Given the description of an element on the screen output the (x, y) to click on. 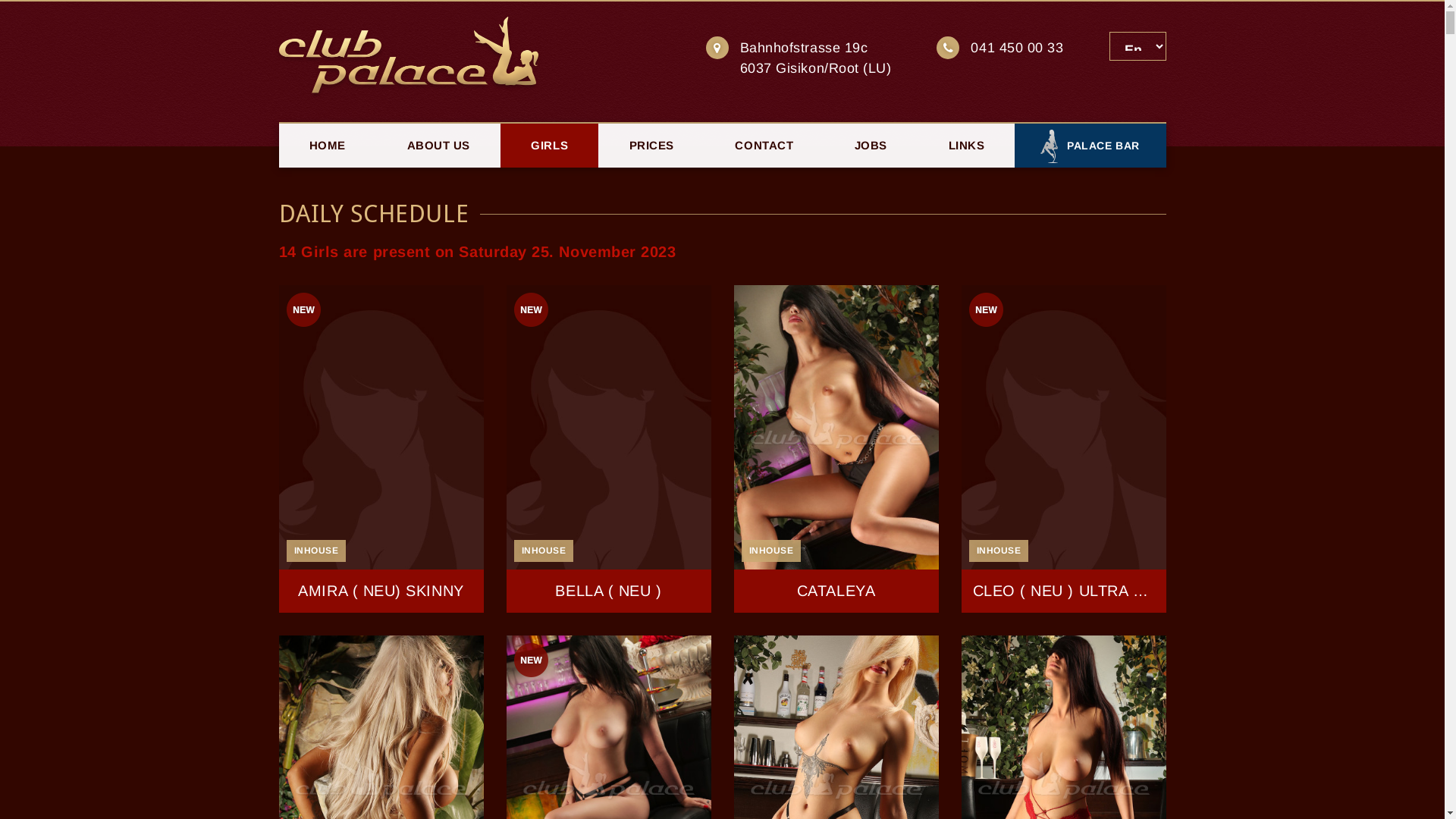
ABOUT US Element type: text (438, 144)
GIRLS Element type: text (549, 144)
HOME Element type: text (327, 144)
JOBS Element type: text (871, 144)
LINKS Element type: text (965, 144)
PALACE BAR Element type: text (1090, 144)
BELLA ( NEU ) Element type: text (608, 448)
PRICES Element type: text (651, 144)
CATALEYA Element type: text (836, 448)
CLEO ( NEU ) ULTRA SKINNY Element type: text (1063, 448)
CONTACT Element type: text (763, 144)
AMIRA ( NEU) SKINNY Element type: text (381, 448)
